Given the description of an element on the screen output the (x, y) to click on. 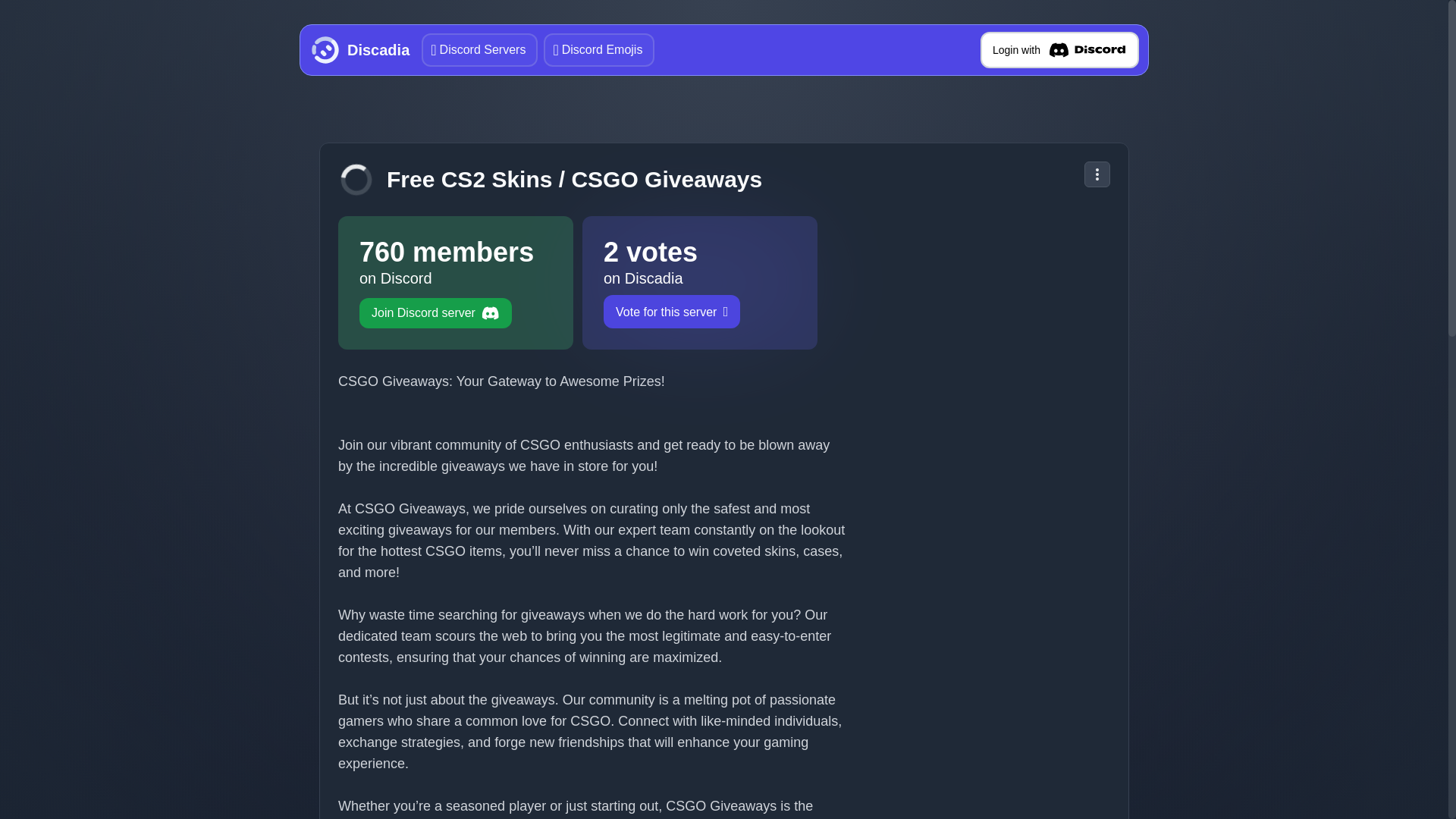
Discord Emojis (699, 282)
Discord Servers (455, 282)
Login with (598, 49)
Discadia (479, 49)
